Given the description of an element on the screen output the (x, y) to click on. 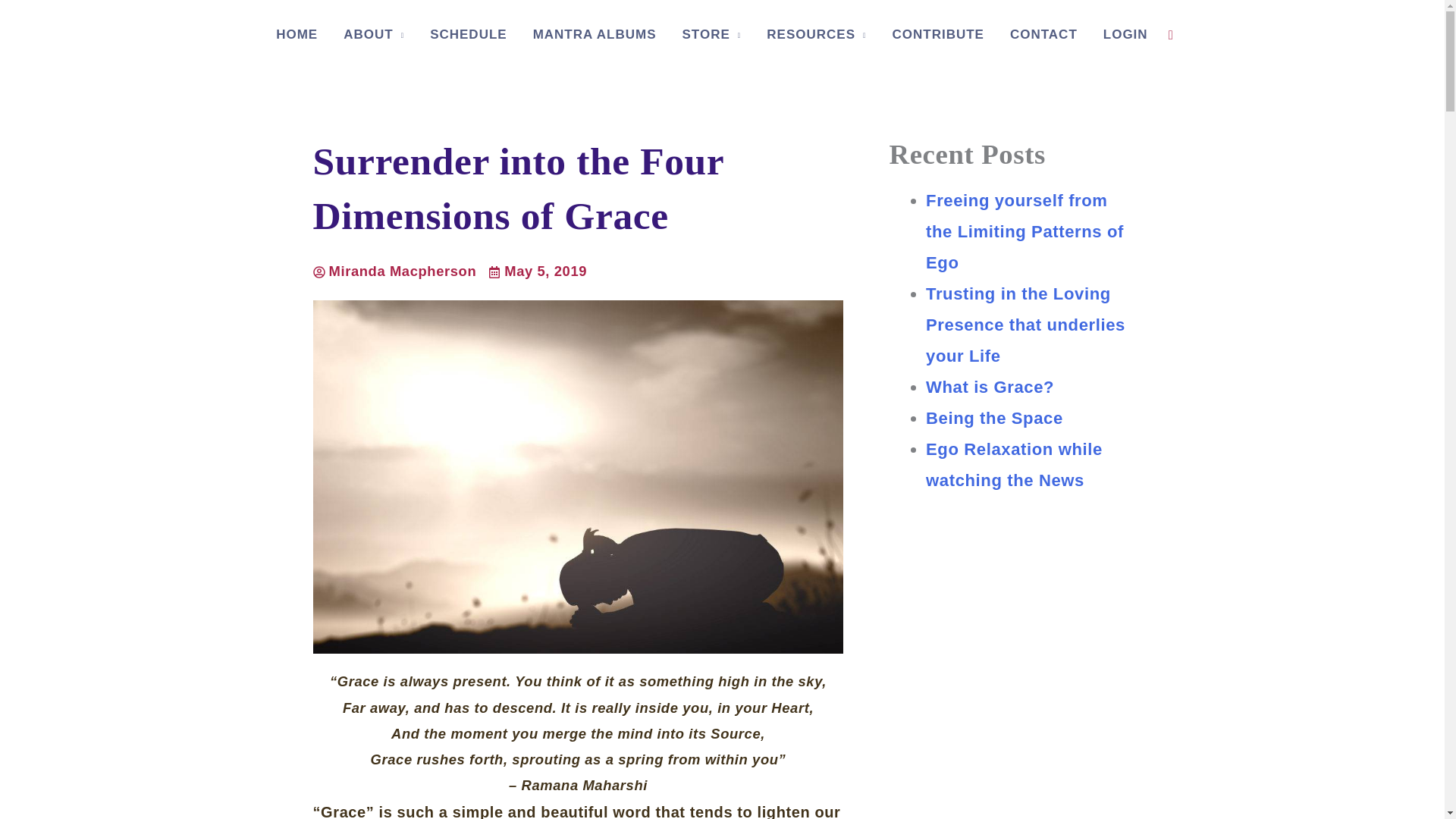
Miranda Macpherson (394, 271)
ABOUT (373, 34)
LOGIN (1125, 34)
RESOURCES (816, 34)
Trusting in the Loving Presence that underlies your Life (1025, 324)
MANTRA ALBUMS (594, 34)
HOME (296, 34)
STORE (711, 34)
Freeing yourself from the Limiting Patterns of Ego (1025, 230)
SCHEDULE (467, 34)
